Given the description of an element on the screen output the (x, y) to click on. 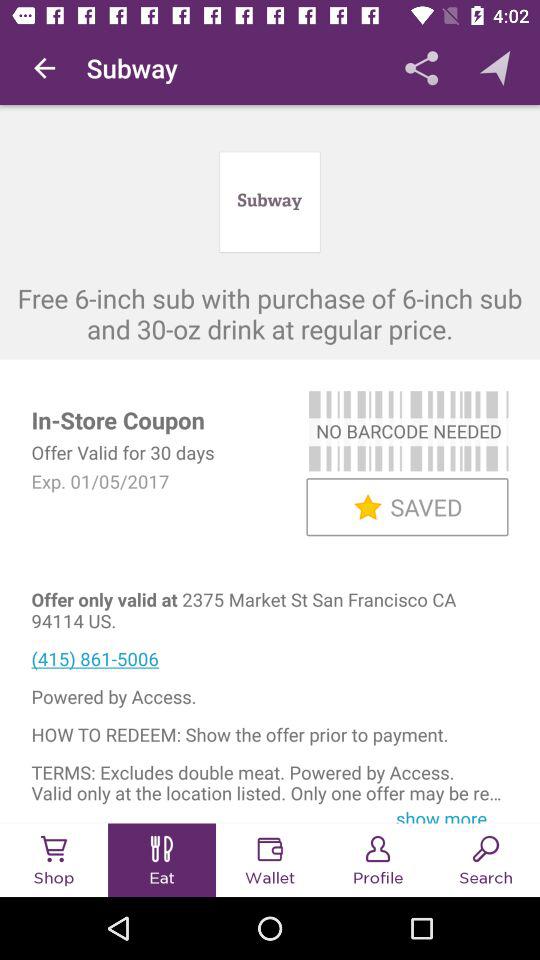
open item above the free 6 inch icon (44, 68)
